Given the description of an element on the screen output the (x, y) to click on. 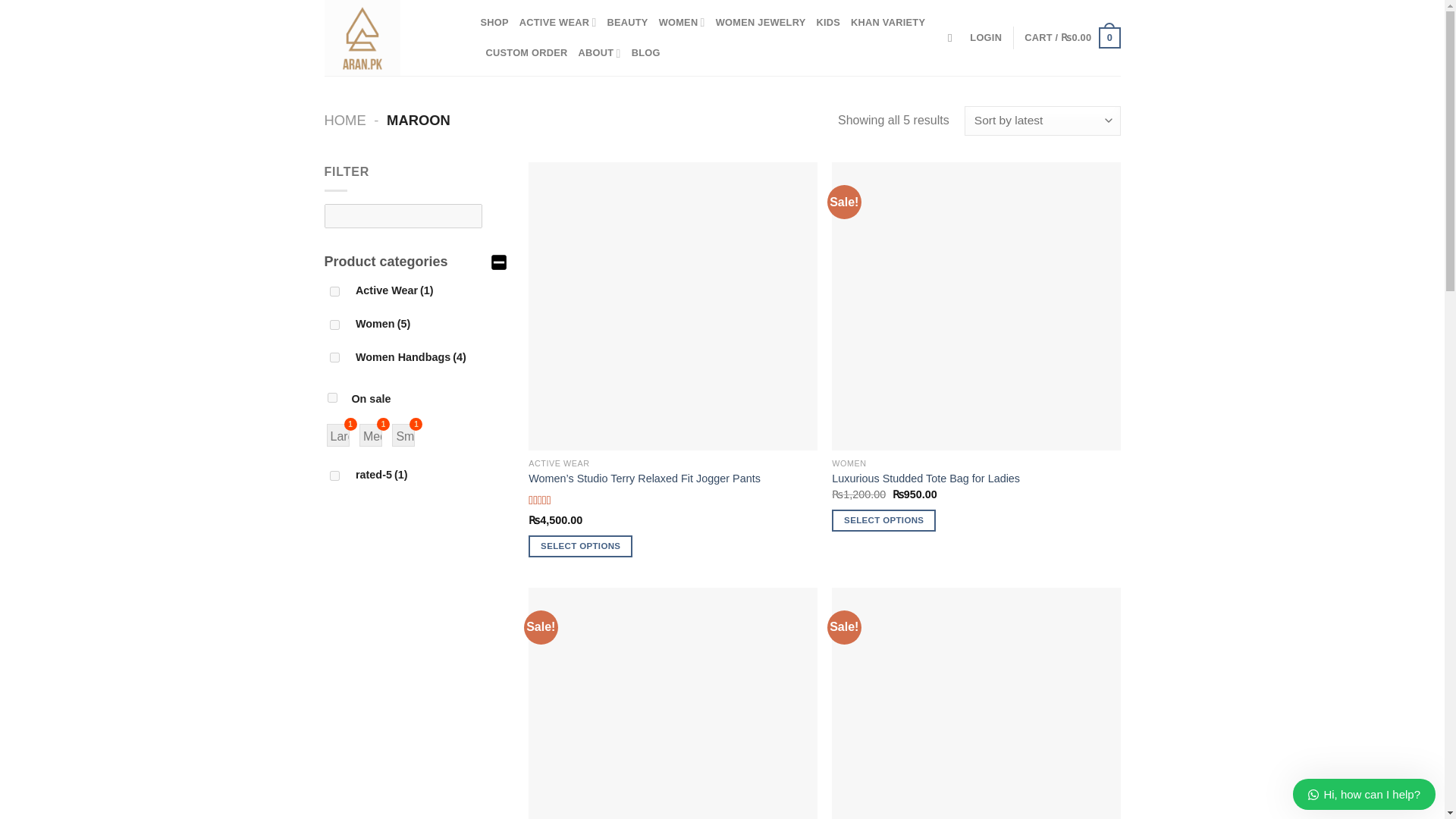
Elegant REPLICA MK Bag for Girls 4 (975, 703)
KHAN VARIETY (887, 22)
SHOP (494, 22)
184 (334, 291)
LOGIN (985, 37)
20 (334, 357)
ABOUT (599, 52)
Cart (1072, 37)
WOMEN JEWELRY (761, 22)
Modern Shoulder Bag with Beads on Flap 3 (672, 703)
